Given the description of an element on the screen output the (x, y) to click on. 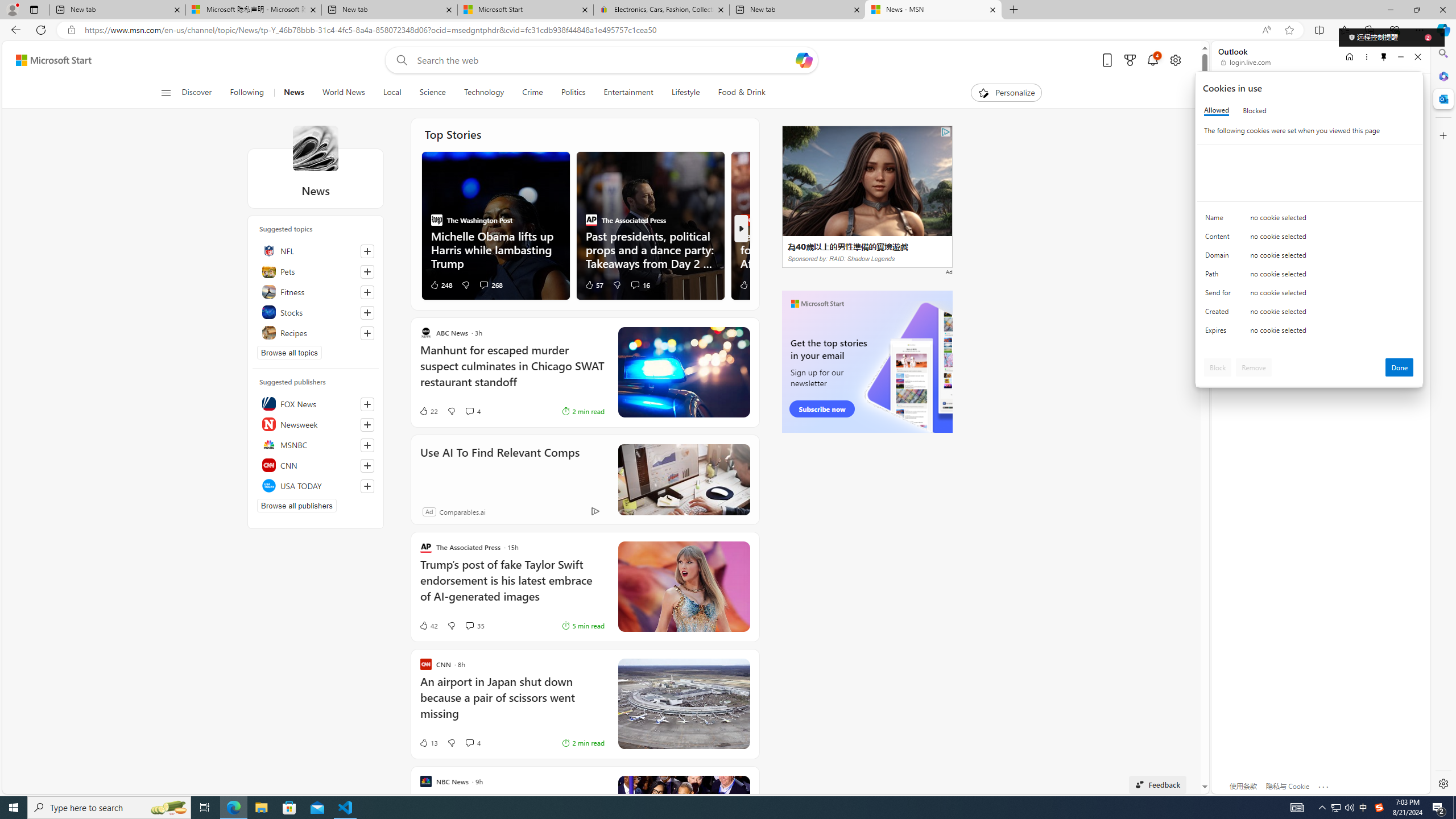
Science (432, 92)
Microsoft (1255, 93)
22 Like (427, 410)
CNN (315, 465)
NFL (315, 250)
Open navigation menu (164, 92)
Name (1219, 220)
Entertainment (627, 92)
